Given the description of an element on the screen output the (x, y) to click on. 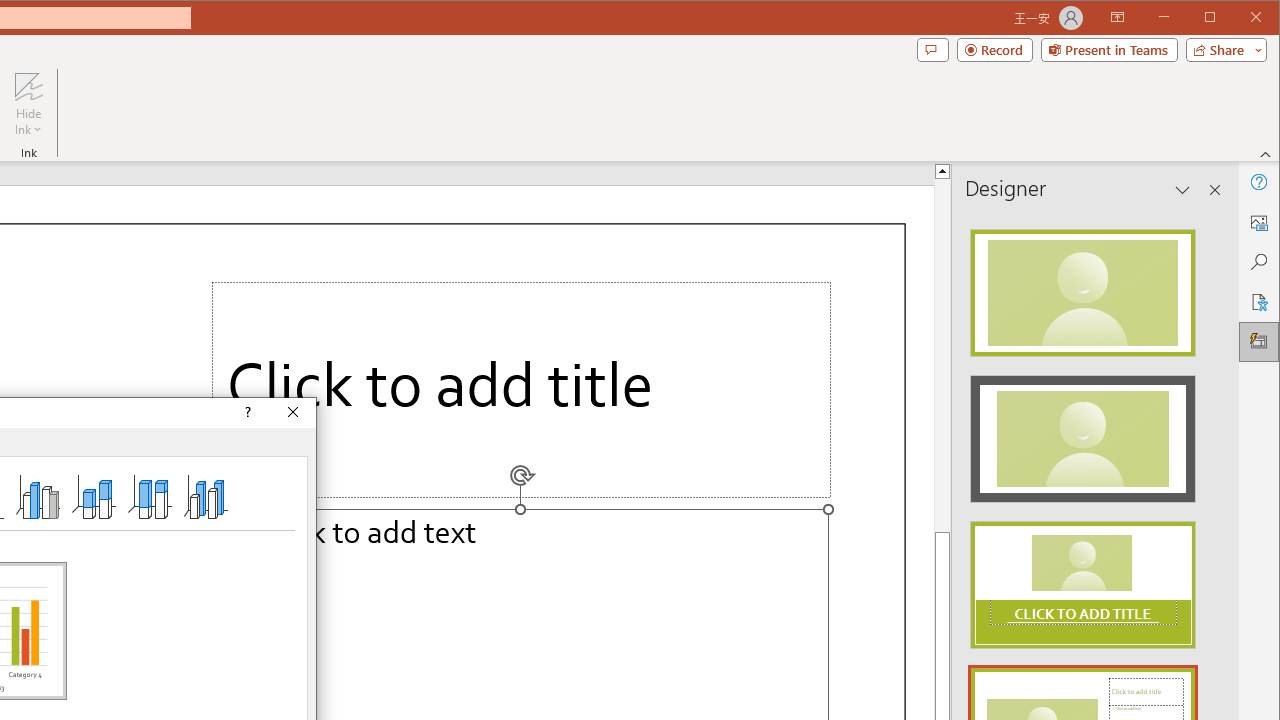
3-D Column (205, 496)
Recommended Design: Design Idea (1082, 286)
Context help (246, 412)
3-D 100% Stacked Column (149, 496)
